Given the description of an element on the screen output the (x, y) to click on. 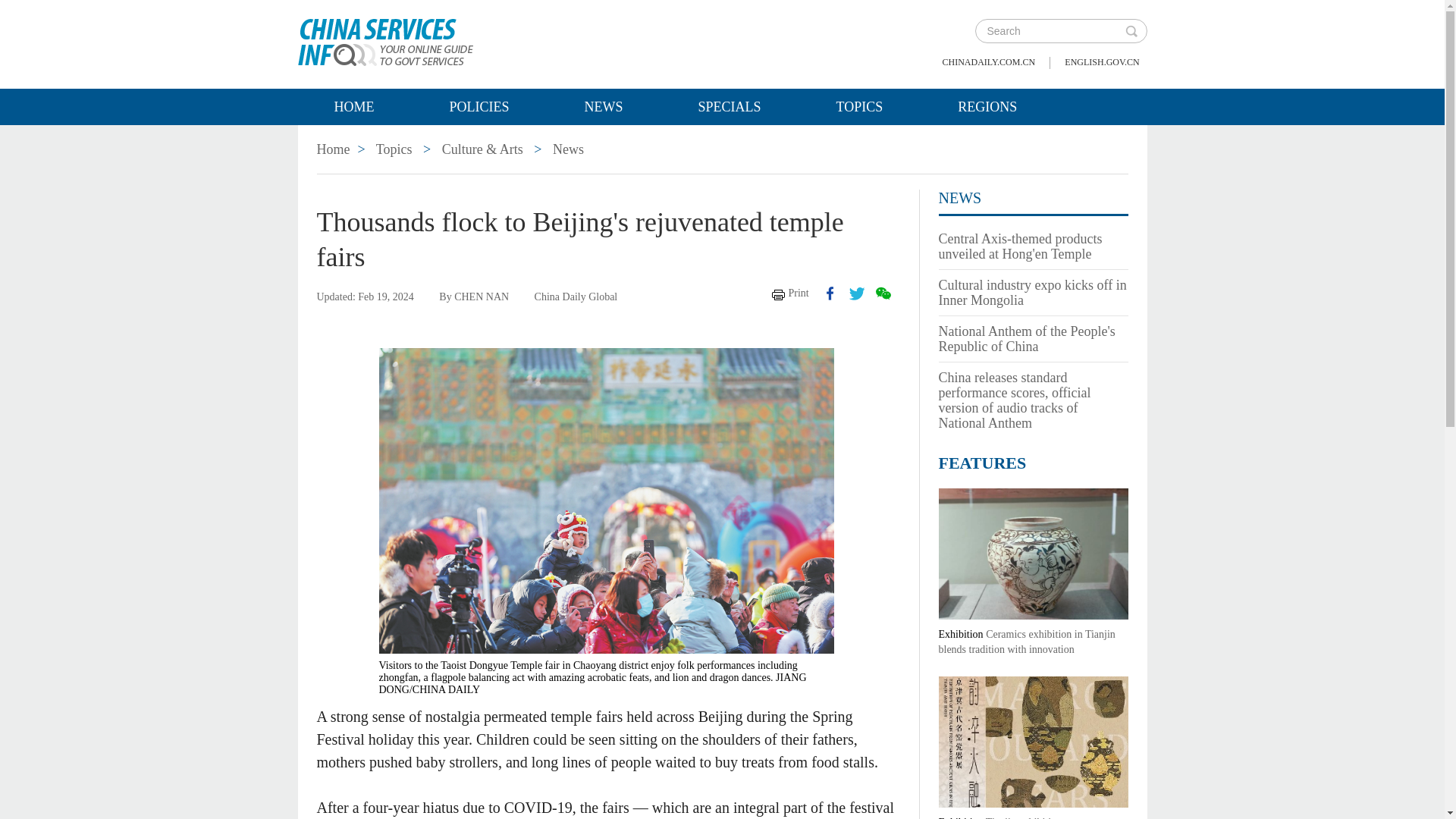
News (568, 149)
Home (333, 149)
Home (353, 106)
News (603, 106)
Policies (478, 106)
CHINADAILY.COM.CN (988, 61)
chinadaily.com.cn (988, 61)
Topics (393, 149)
